Given the description of an element on the screen output the (x, y) to click on. 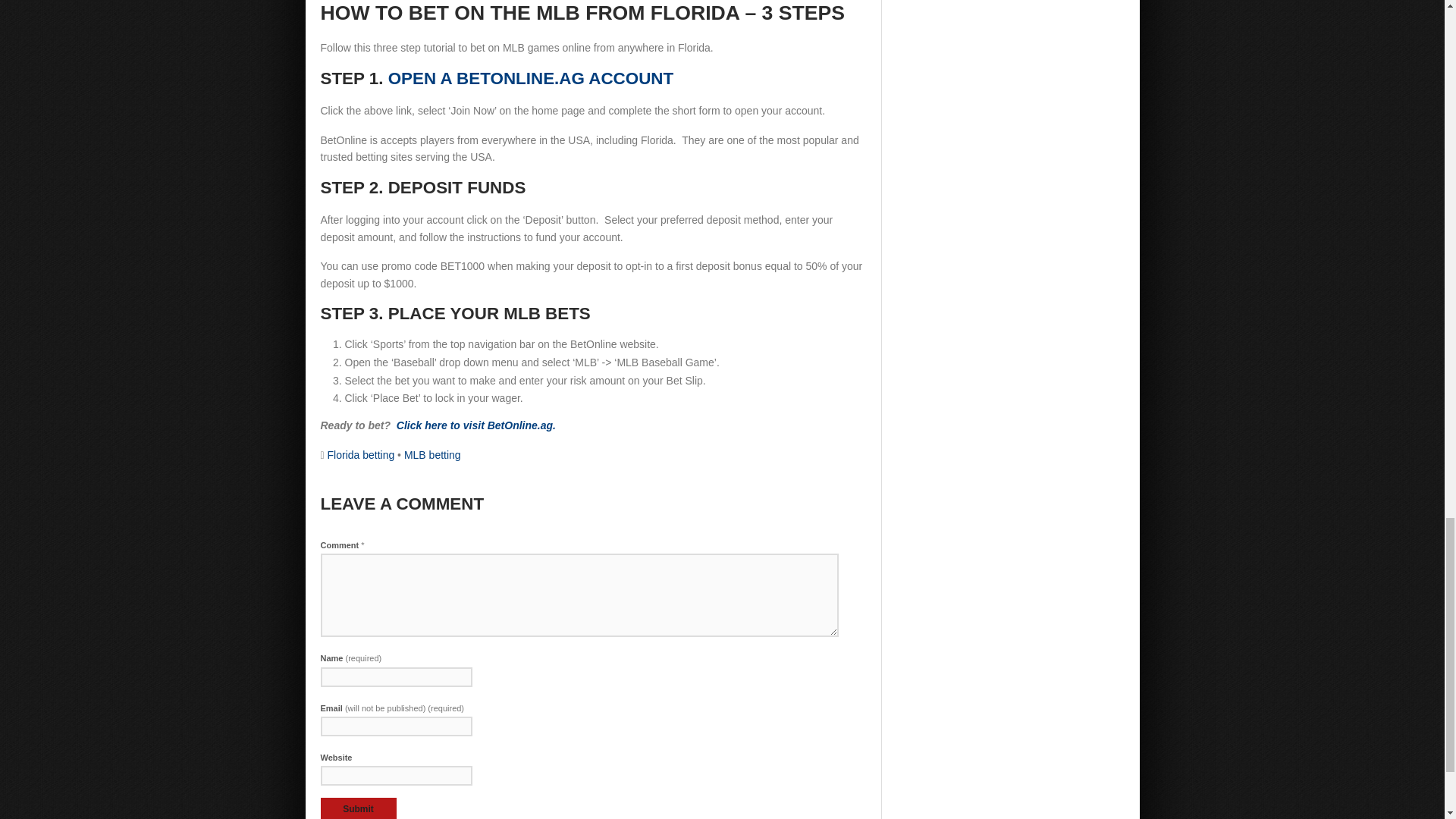
Florida betting (360, 454)
OPEN A BETONLINE.AG ACCOUNT (531, 77)
Click here to visit BetOnline.ag. (476, 425)
MLB betting (432, 454)
Submit (358, 808)
Submit (358, 808)
